Given the description of an element on the screen output the (x, y) to click on. 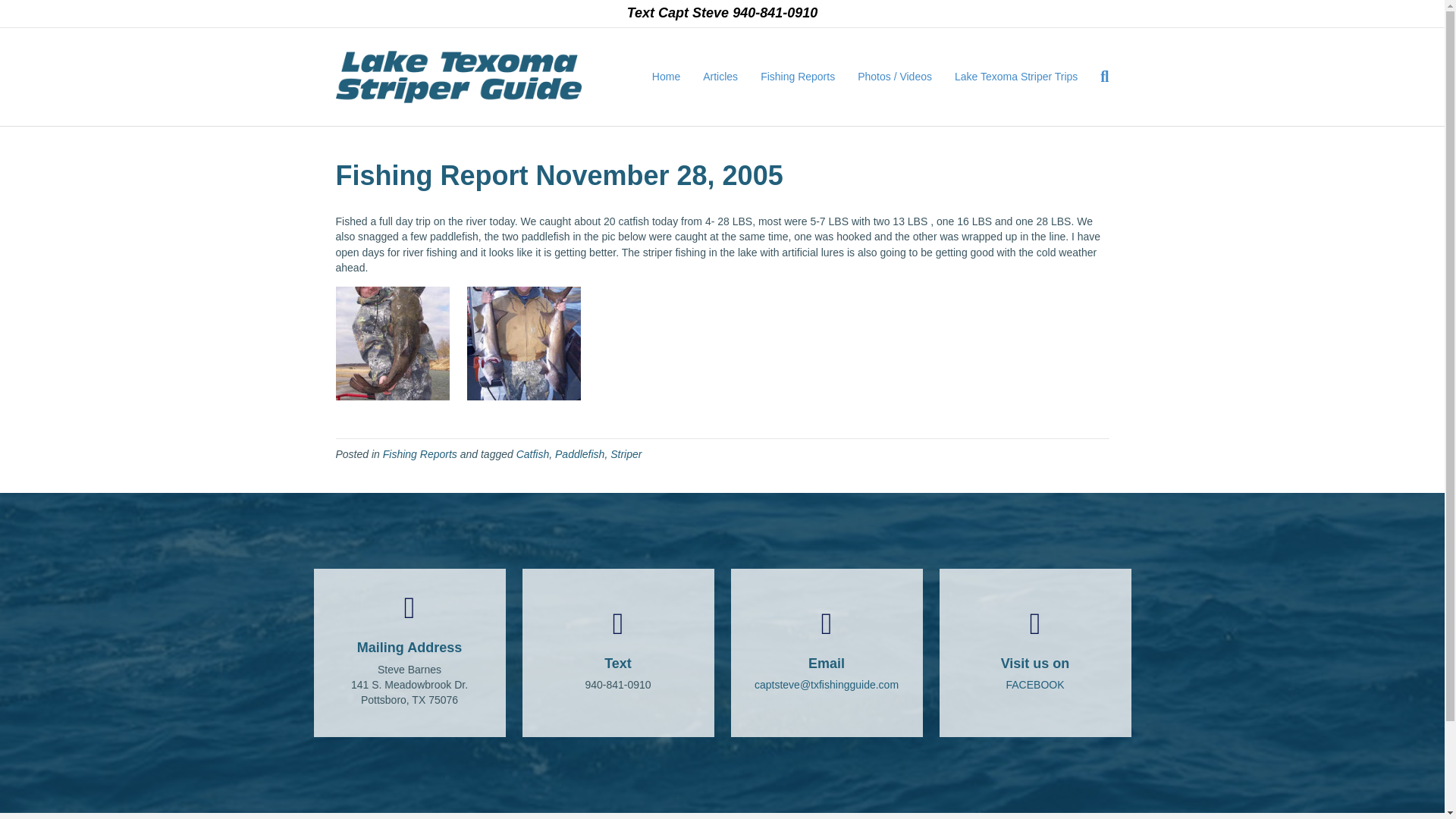
Fishing Reports (419, 453)
Catfish (533, 453)
Paddlefish (579, 453)
Fishing Reports (797, 77)
FACEBOOK (1035, 684)
Articles (720, 77)
Lake Texoma Striper Trips (1016, 77)
Home (665, 77)
Striper (626, 453)
